Given the description of an element on the screen output the (x, y) to click on. 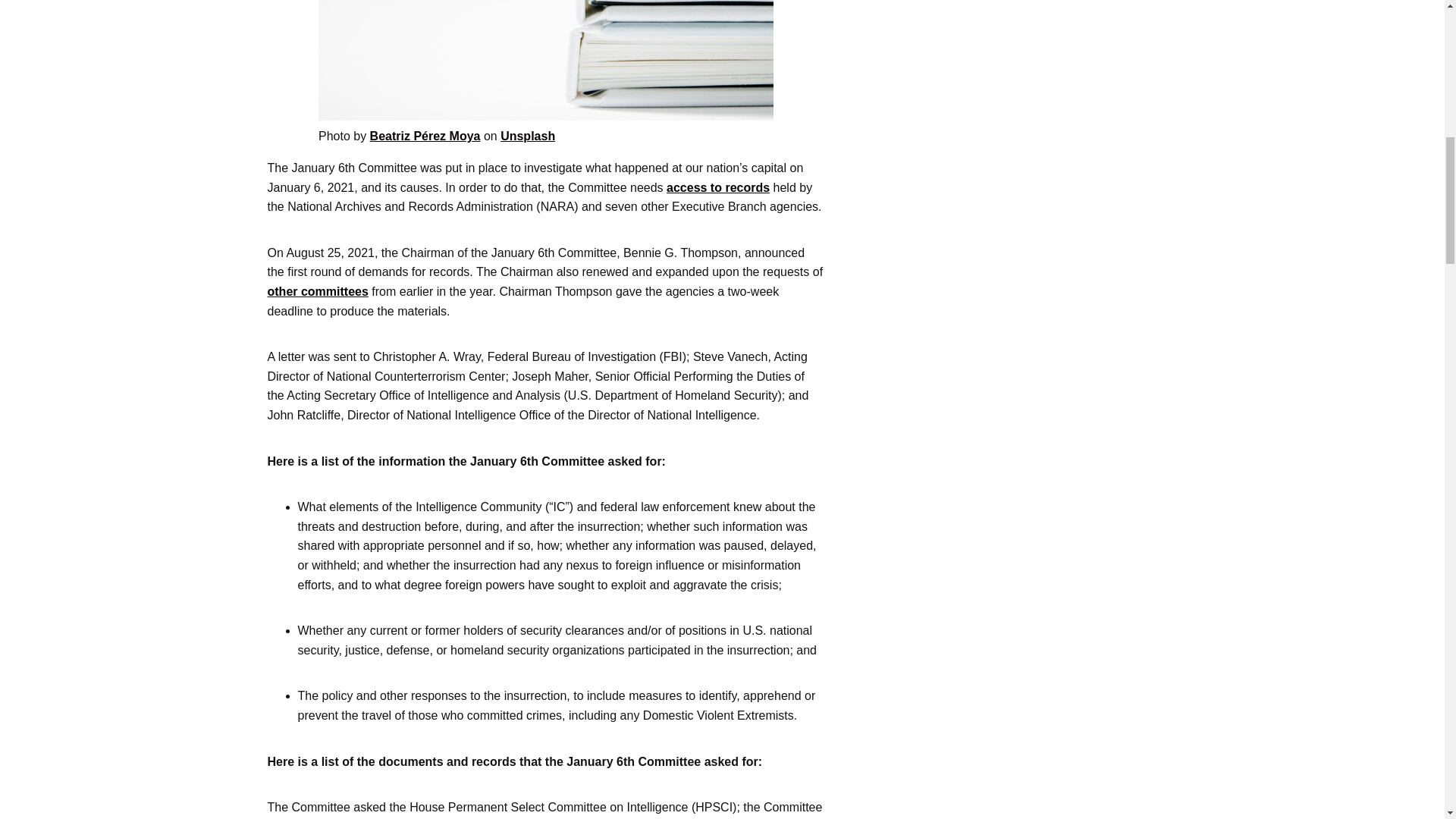
access to records (718, 187)
other committees (317, 291)
Unsplash (527, 135)
